Given the description of an element on the screen output the (x, y) to click on. 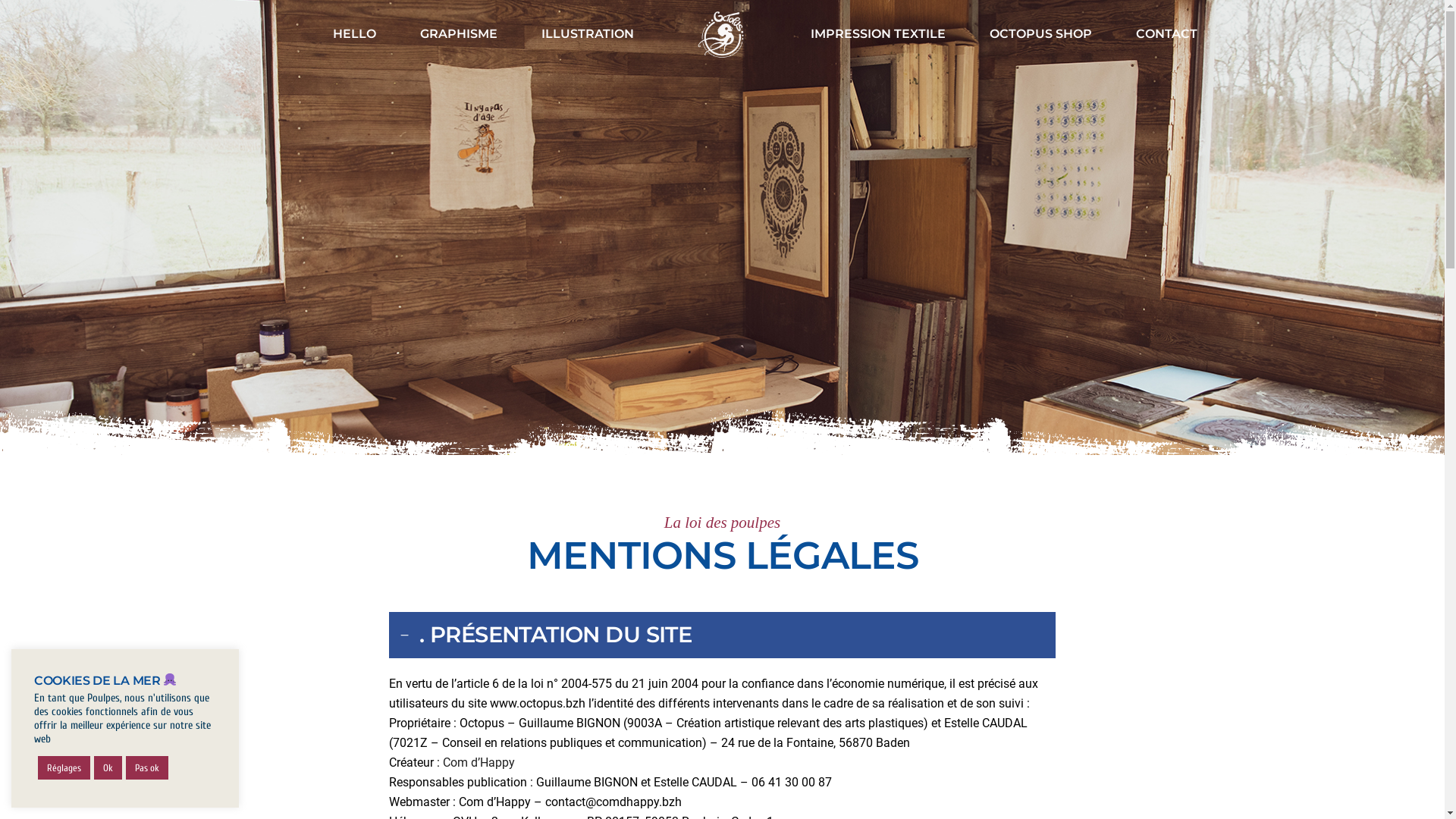
ILLUSTRATION Element type: text (587, 33)
CONTACT Element type: text (1166, 33)
IMPRESSION TEXTILE Element type: text (877, 33)
GRAPHISME Element type: text (458, 33)
Pas ok Element type: text (146, 767)
Ok Element type: text (108, 767)
OCTOPUS SHOP Element type: text (1040, 33)
HELLO Element type: text (354, 33)
